Given the description of an element on the screen output the (x, y) to click on. 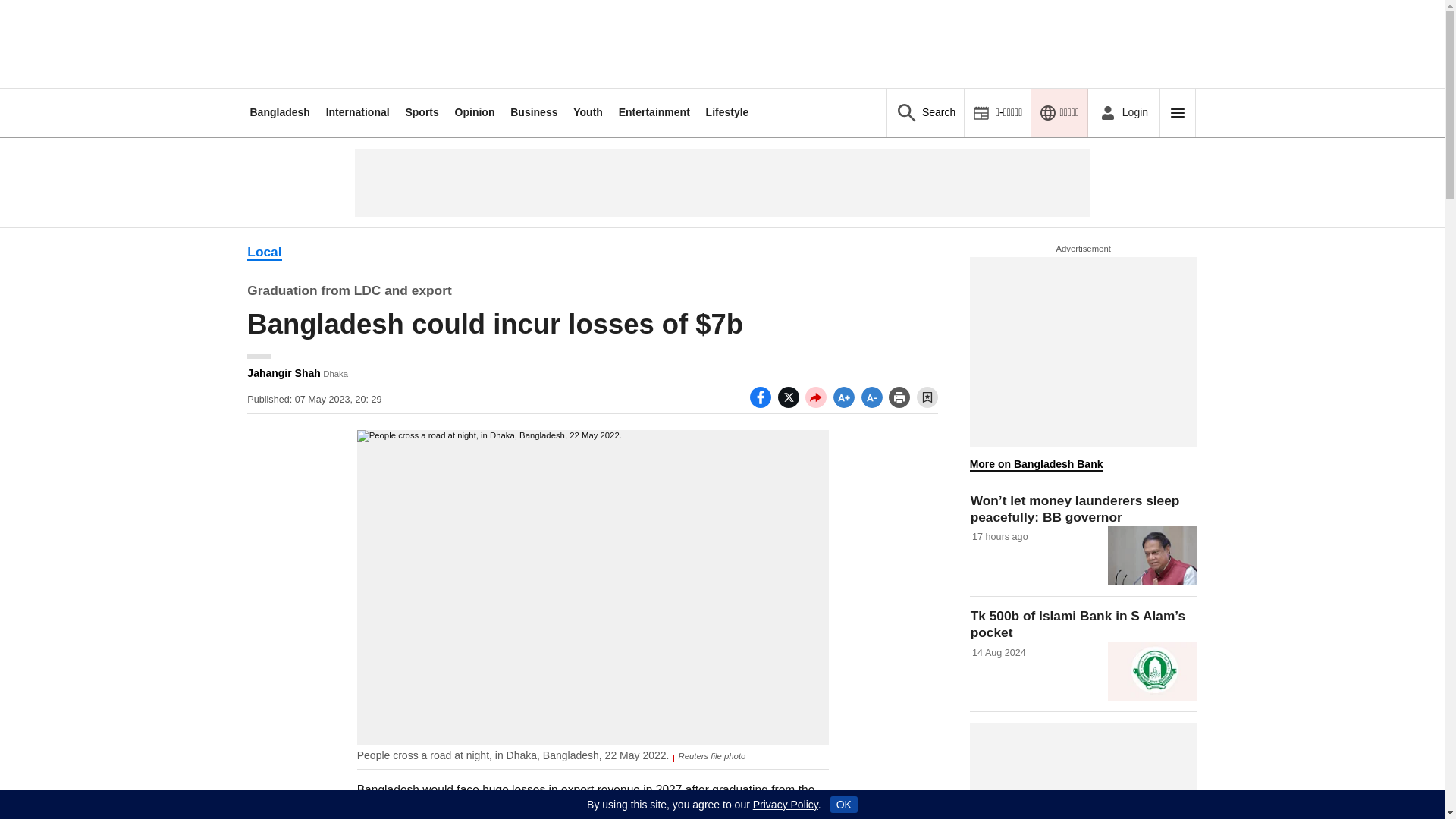
Entertainment (654, 111)
Lifestyle (727, 111)
Sports (421, 111)
International (358, 111)
Login (1122, 112)
OK (843, 804)
Search (924, 112)
Business (534, 111)
Bangladesh (278, 111)
Opinion (474, 111)
